Given the description of an element on the screen output the (x, y) to click on. 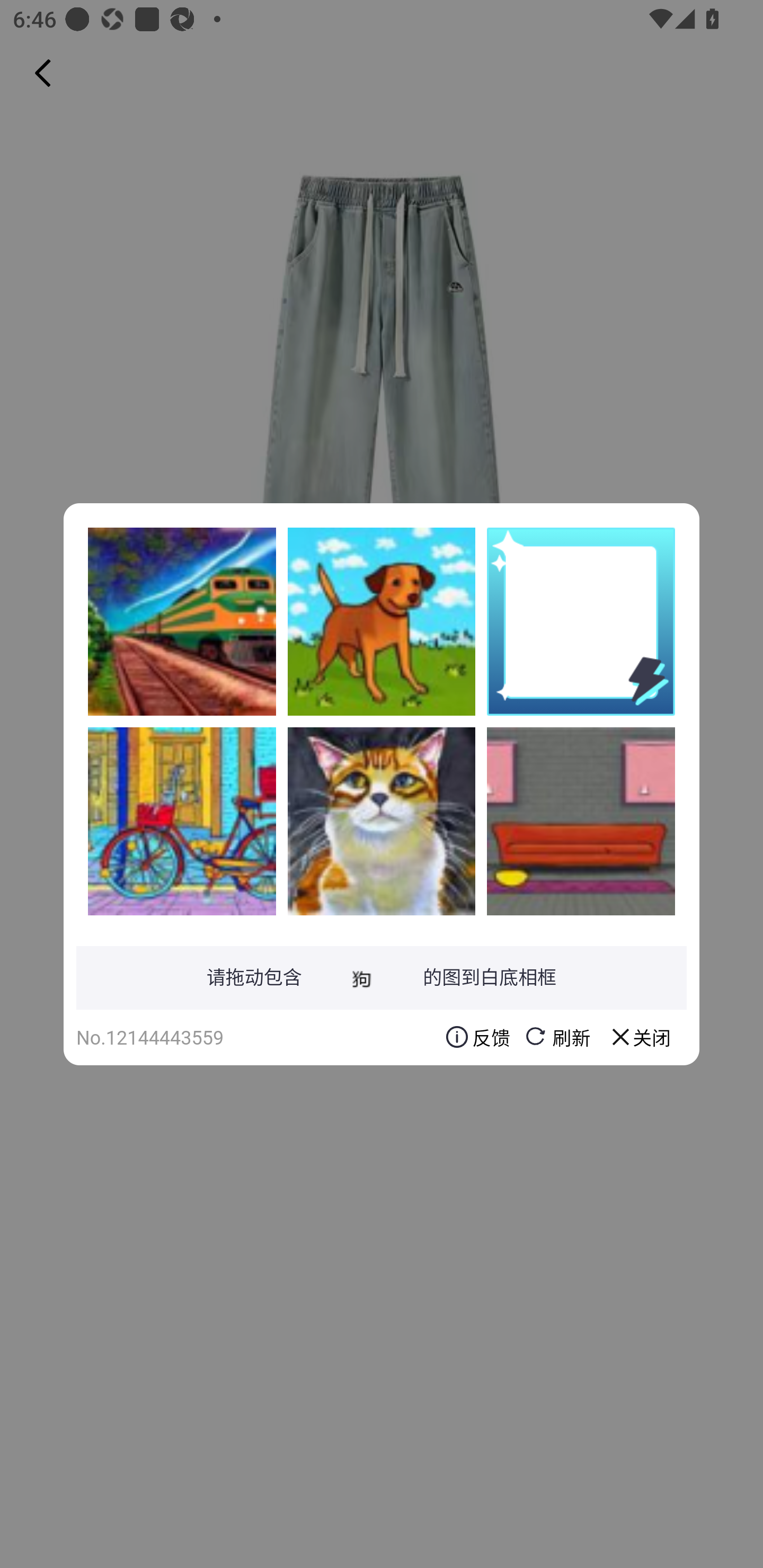
+Es7vyOTxQ+ (181, 621)
MdMHdEjL10BHw9FjtQdoKWtm5 (181, 820)
0y09hfEi76s9hxIou8AVnl8Ihr0B3ZGaF (381, 820)
